Given the description of an element on the screen output the (x, y) to click on. 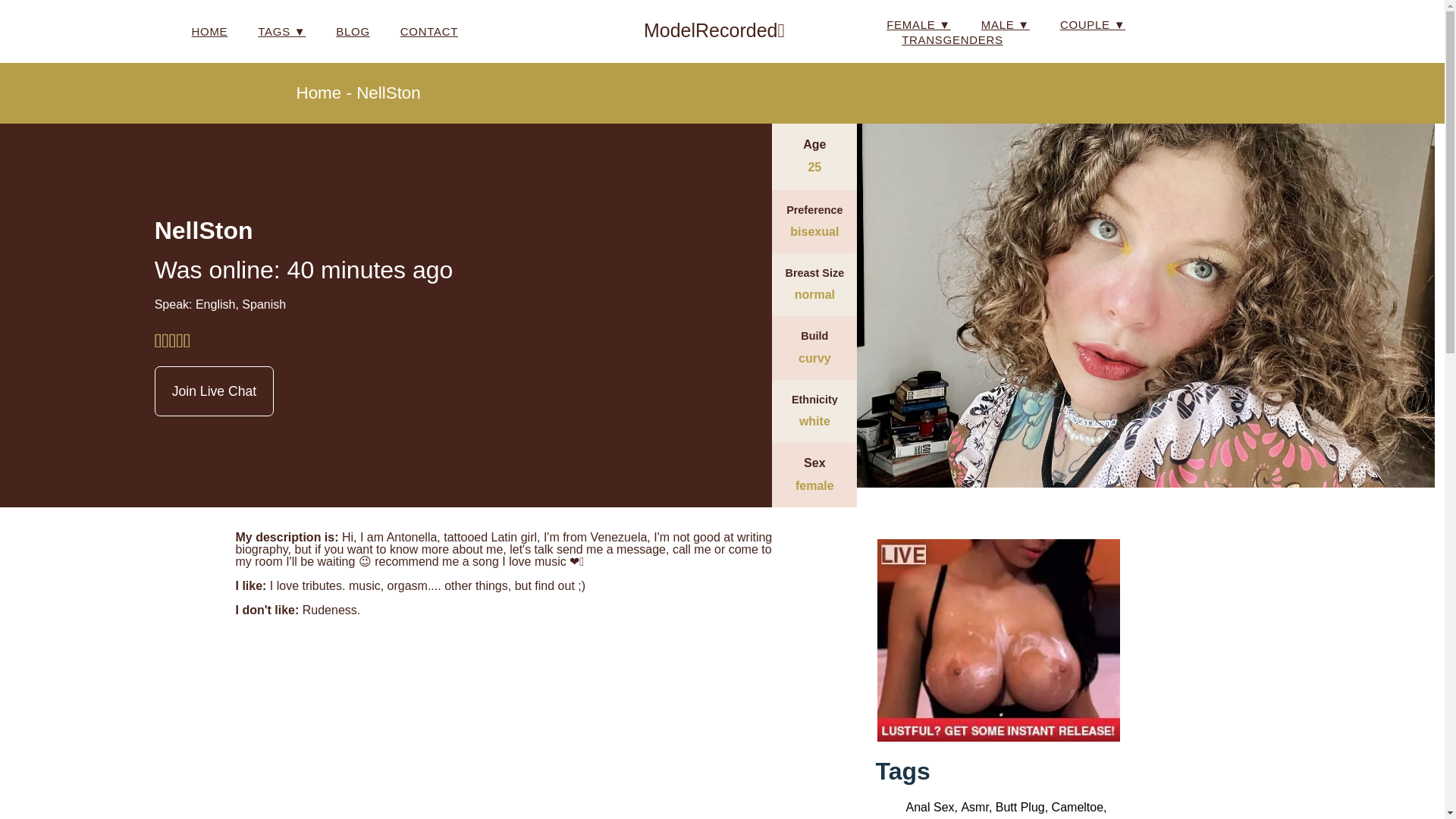
BLOG (352, 31)
Home (208, 31)
CONTACT (429, 31)
Blog (352, 31)
Contact (429, 31)
HOME (208, 31)
TRANSGENDERS (952, 39)
